Given the description of an element on the screen output the (x, y) to click on. 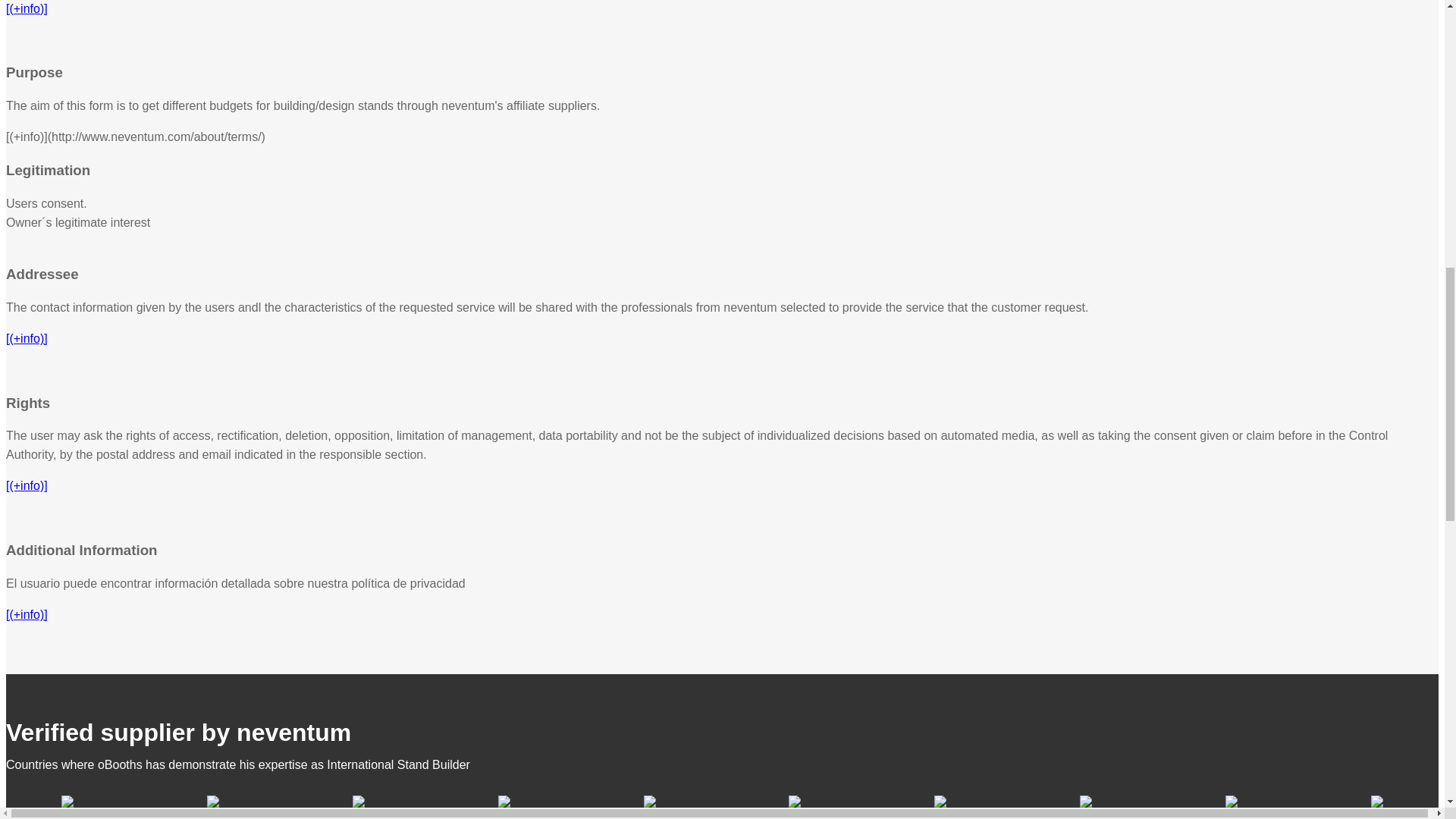
Experience in China (358, 801)
Super expert in Germany (650, 801)
India (1376, 814)
Mexico (939, 814)
Spain (213, 814)
Germany (649, 814)
Experience in France (1231, 801)
United States (67, 814)
Super expert in Colombia (1085, 801)
Experience in Hong Kong S.A.R., China (504, 801)
Colombia (1085, 814)
Super expert in Spain (213, 801)
Hong Kong S.A.R., China (504, 814)
Super expert in Mexico (940, 801)
Super expert in India (1377, 801)
